Given the description of an element on the screen output the (x, y) to click on. 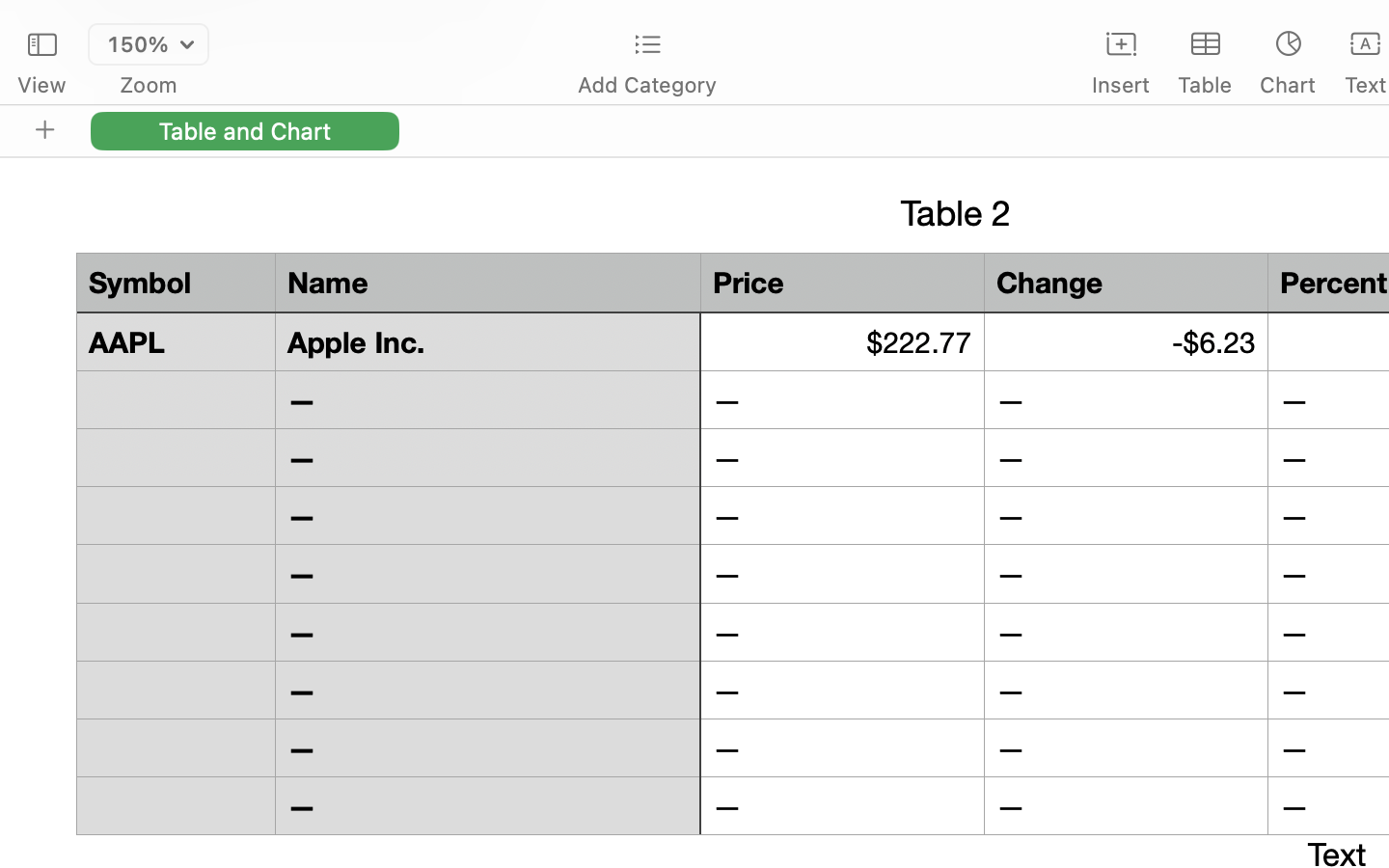
Add Category Element type: AXStaticText (646, 84)
Insert Element type: AXStaticText (1120, 84)
Table and Chart Element type: AXStaticText (244, 129)
Zoom Element type: AXStaticText (148, 84)
